Given the description of an element on the screen output the (x, y) to click on. 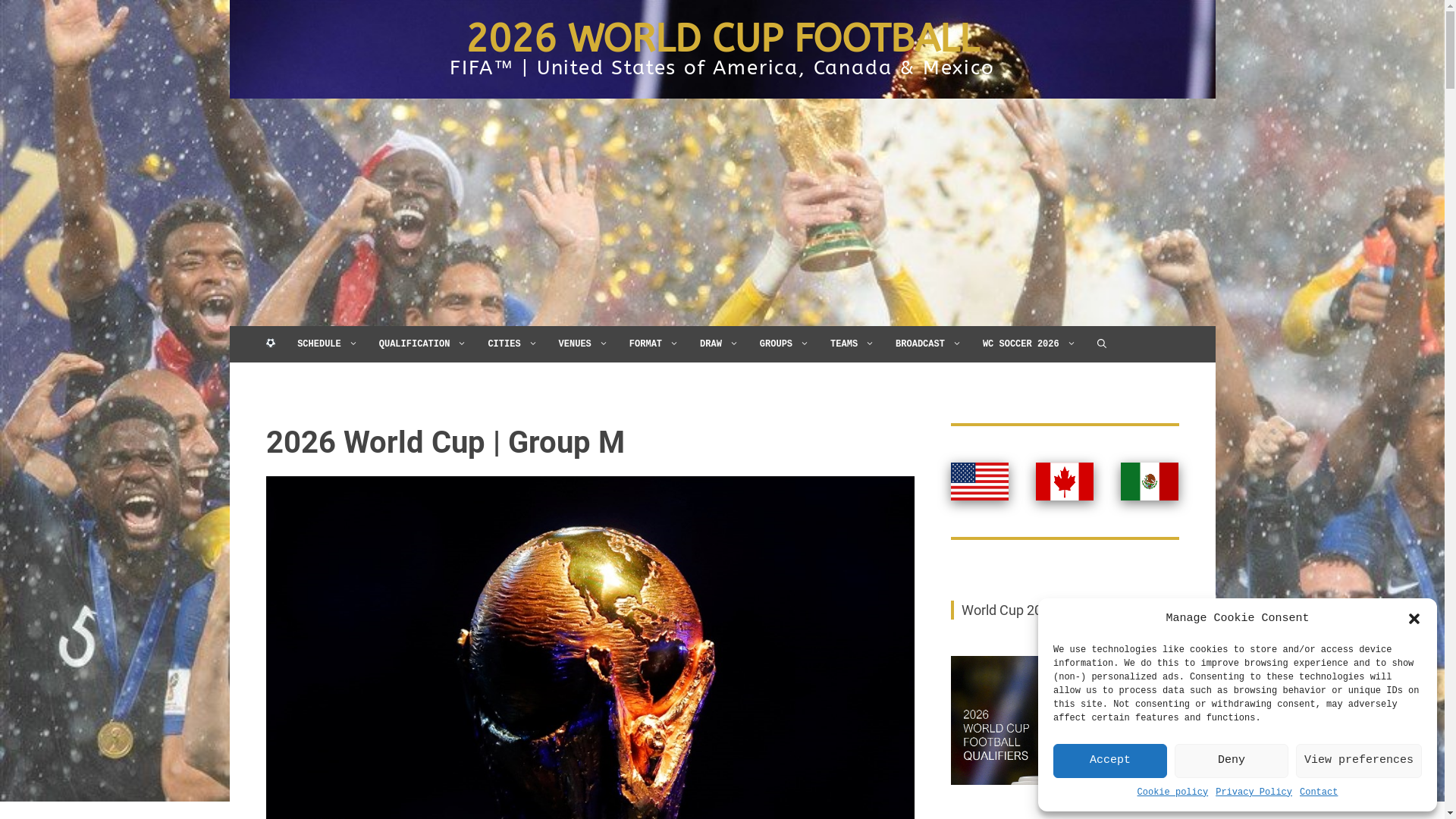
DRAW Element type: text (719, 343)
Accept Element type: text (1110, 760)
Contact Element type: text (1318, 792)
CITIES Element type: text (511, 343)
Mexico host World Cup Football 2026 Element type: hover (1149, 481)
Canada host World Cup Football 2026 Element type: hover (1064, 481)
VENUES Element type: text (583, 343)
Cookie policy Element type: text (1172, 792)
WC SOCCER 2026 Element type: text (1029, 343)
GROUPS Element type: text (784, 343)
2026 World Cup Football Qualification Element type: hover (1064, 719)
Advertisement Element type: hover (721, 212)
USA host World Cup Football 2026 Element type: hover (979, 481)
View preferences Element type: text (1358, 760)
BROADCAST Element type: text (928, 343)
2026 WORLD CUP FOOTBALL Element type: text (722, 38)
Deny Element type: text (1231, 760)
SCHEDULE Element type: text (327, 343)
Privacy Policy Element type: text (1253, 792)
TEAMS Element type: text (851, 343)
QUALIFICATION Element type: text (422, 343)
FORMAT Element type: text (653, 343)
